Given the description of an element on the screen output the (x, y) to click on. 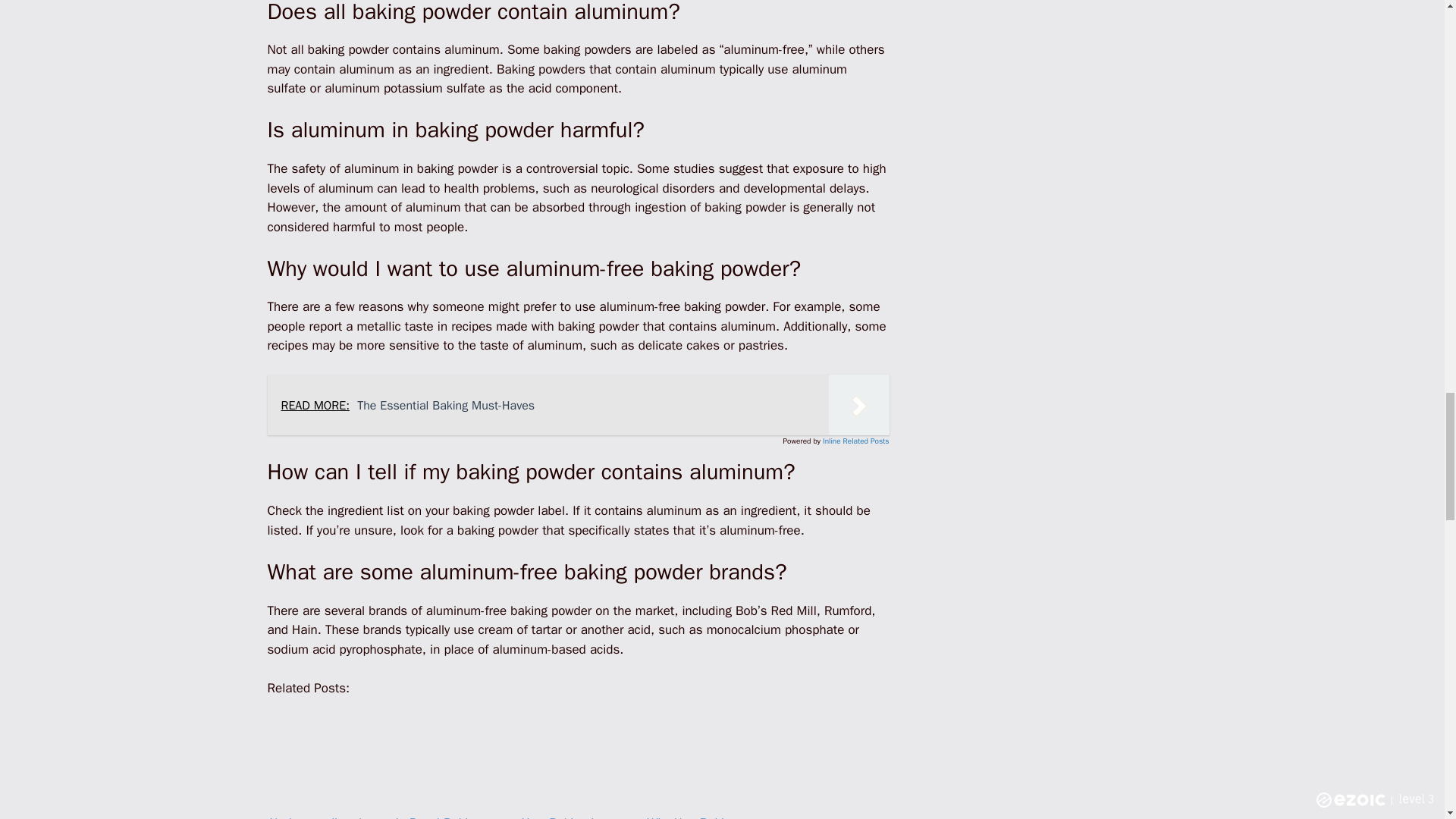
READ MORE:  The Essential Baking Must-Haves (577, 404)
Understanding the Concept of Baking Soda (325, 758)
Inline Related Posts (855, 440)
Is Royal Baking Powder: Everything You Need to Know (452, 757)
How Baking is Science (577, 758)
Why Use Baking Powder: A Comprehensive Guide (703, 758)
Why Use Baking Powder: A Comprehensive Guide (704, 757)
How Baking is Science (577, 757)
Understanding the Concept of Baking Soda (326, 757)
Is Royal Baking Powder: Everything You Need to Know (452, 758)
